Given the description of an element on the screen output the (x, y) to click on. 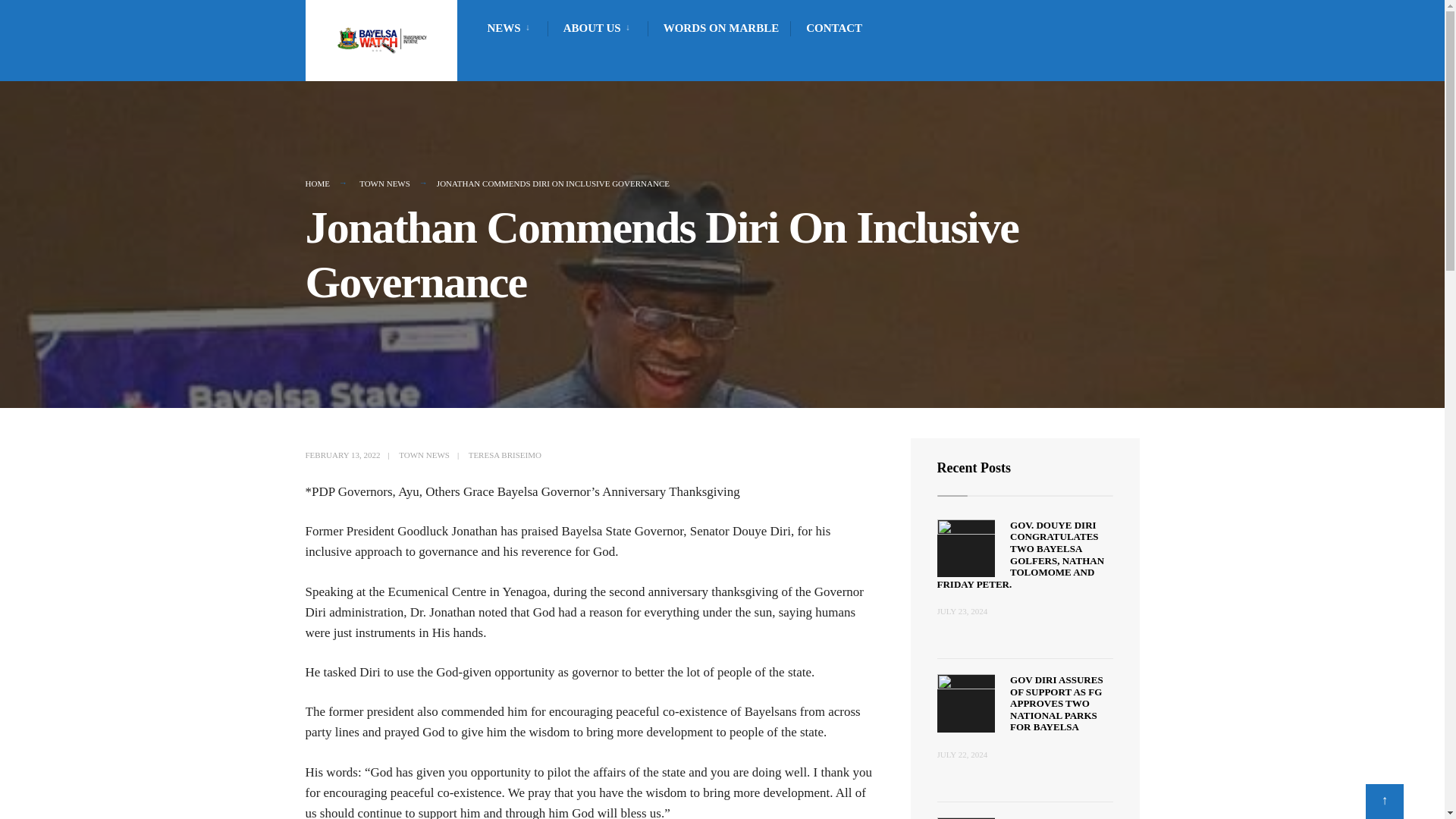
TERESA BRISEIMO (504, 454)
Scroll to top (1384, 801)
Posts by Teresa Briseimo (504, 454)
TOWN NEWS (384, 183)
NEWS (510, 27)
HOME (316, 183)
CONTACT (833, 27)
ABOUT US (599, 27)
Skip to content (312, 3)
Recent Posts (973, 467)
WORDS ON MARBLE (720, 27)
TOWN NEWS (423, 454)
